Given the description of an element on the screen output the (x, y) to click on. 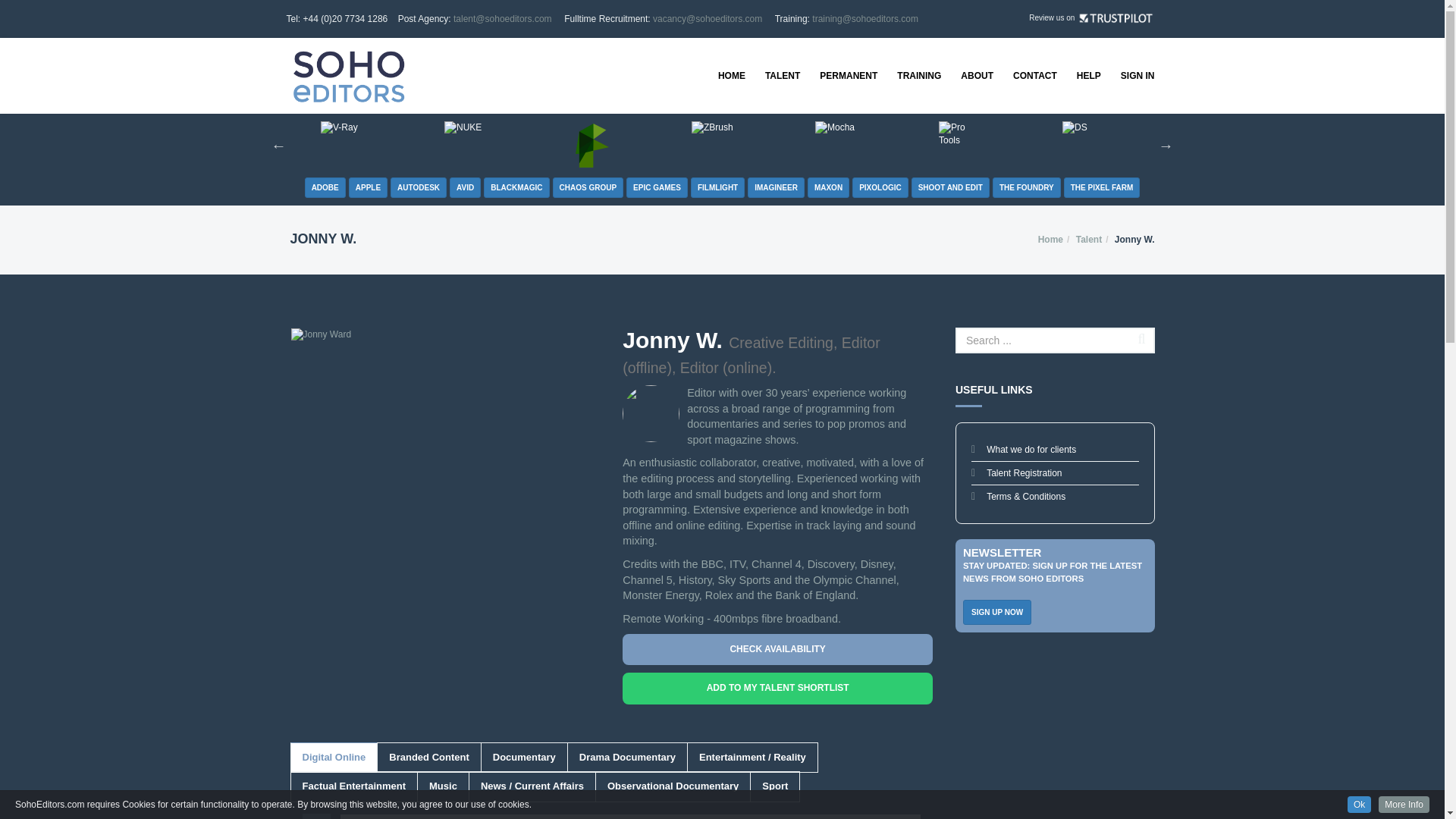
PERMANENT (847, 75)
